Given the description of an element on the screen output the (x, y) to click on. 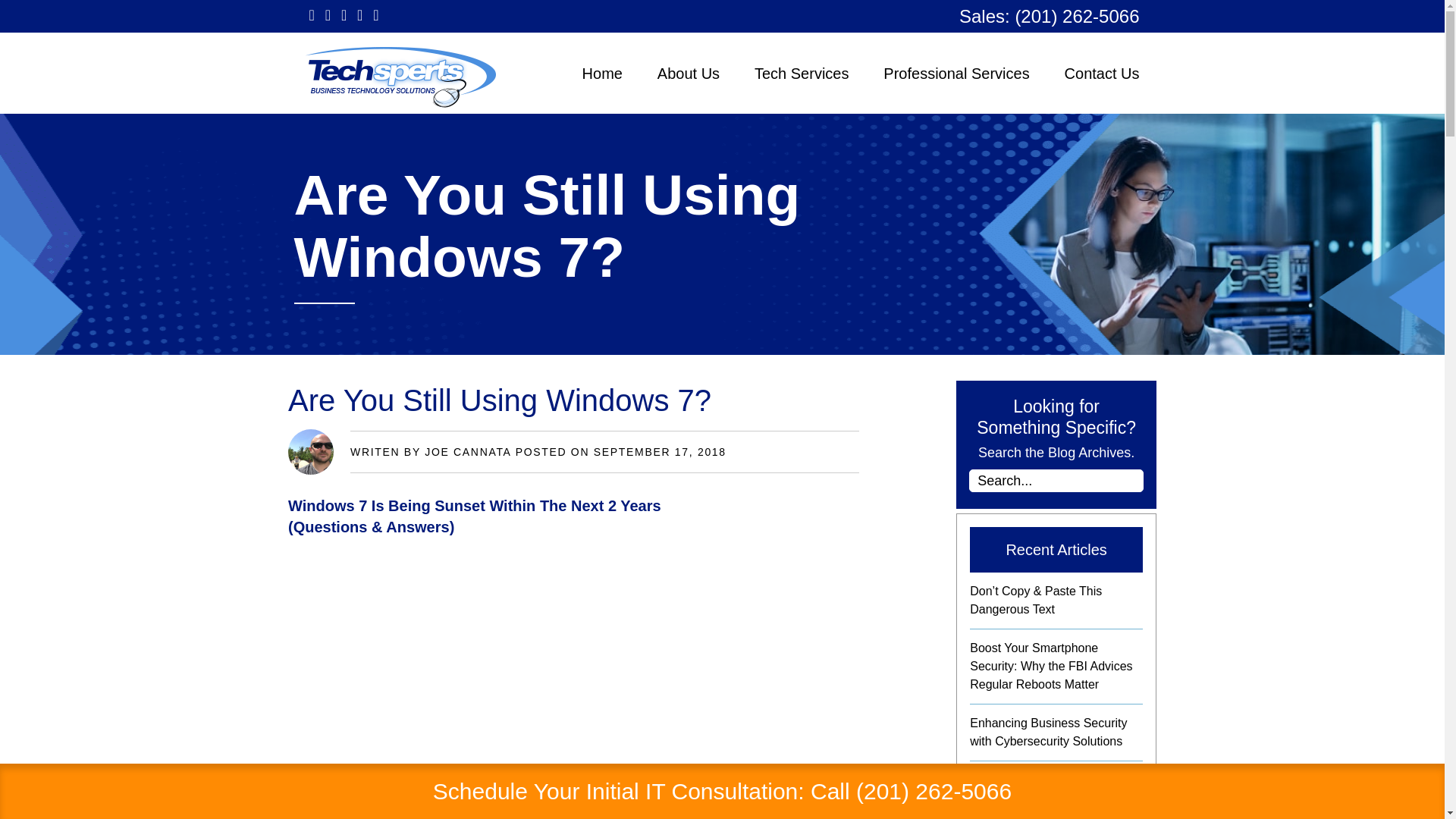
Contact Us (1102, 73)
Home (602, 73)
Search... (1055, 480)
Search... (1055, 480)
Professional Services (956, 73)
Tech Services (801, 73)
About Us (688, 73)
